Given the description of an element on the screen output the (x, y) to click on. 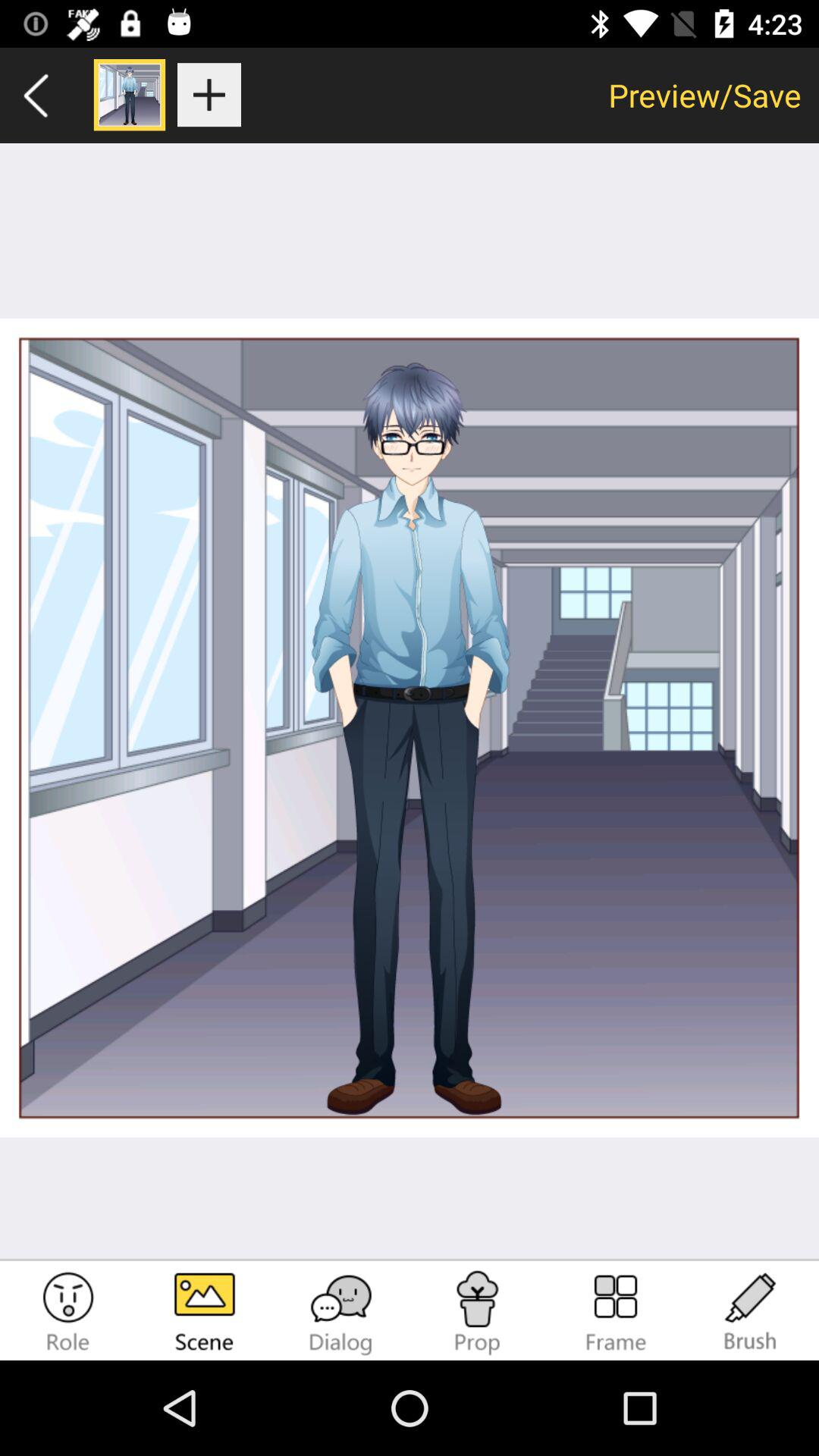
turn on app at the top right corner (704, 94)
